Given the description of an element on the screen output the (x, y) to click on. 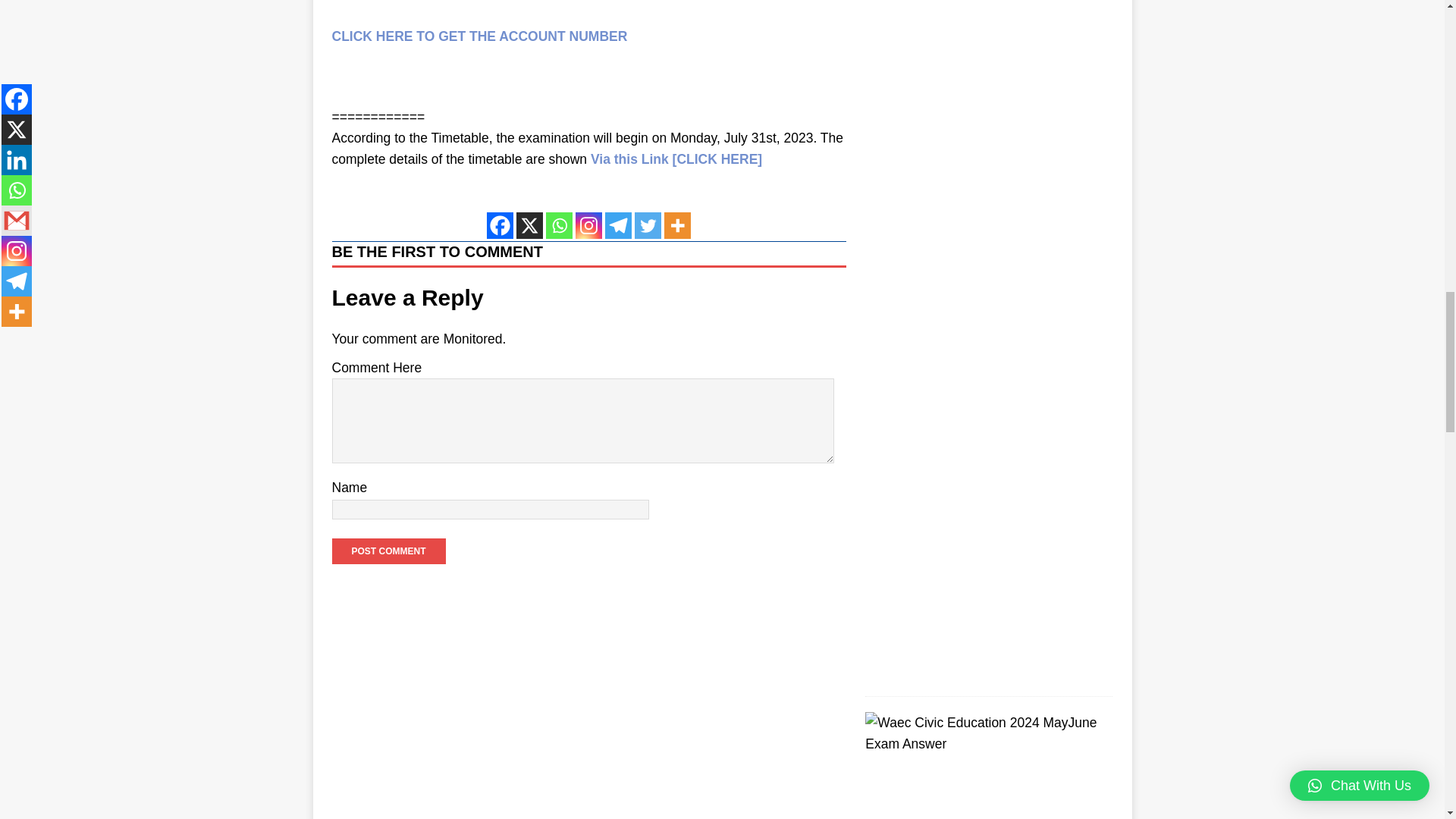
Post Comment (388, 551)
Whatsapp (559, 225)
Facebook (499, 225)
X (529, 225)
CLICK HERE TO GET THE ACCOUNT NUMBER (479, 36)
